Given the description of an element on the screen output the (x, y) to click on. 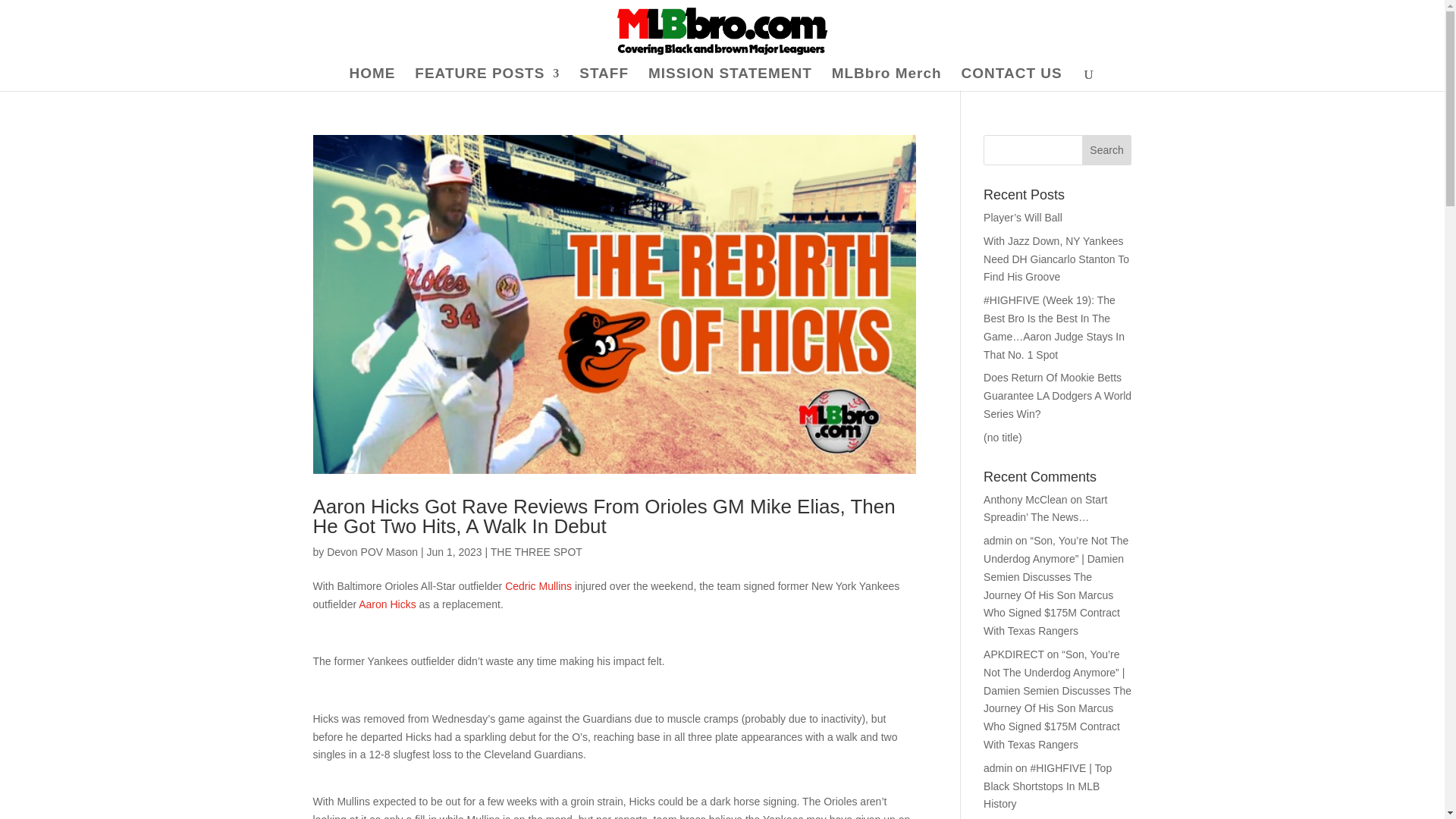
FEATURE POSTS (486, 78)
MISSION STATEMENT (729, 78)
admin (997, 540)
Posts by Devon POV Mason (371, 551)
MLBbro Merch (886, 78)
Search (1106, 150)
Aaron Hicks (386, 604)
